Given the description of an element on the screen output the (x, y) to click on. 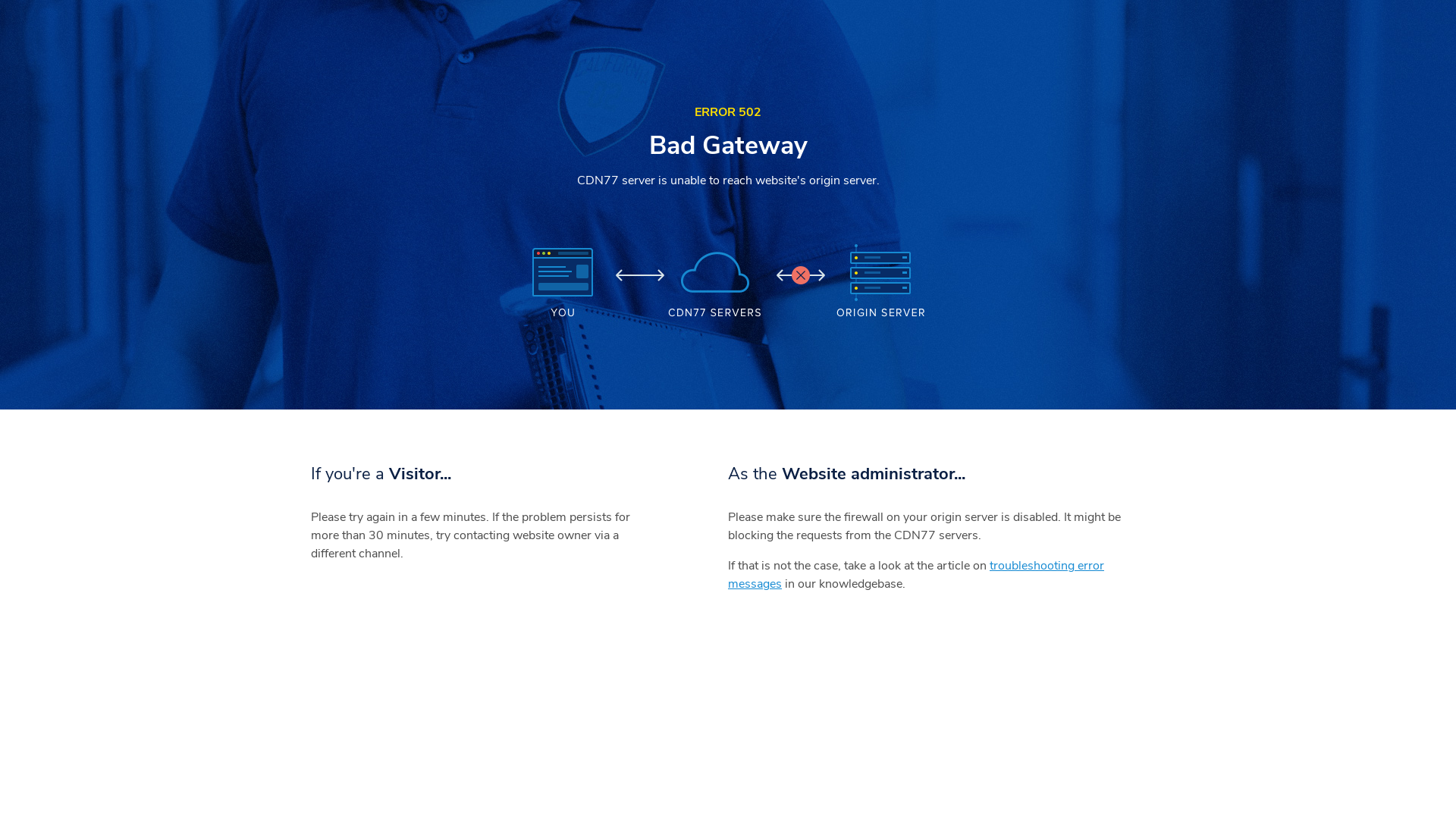
troubleshooting error messages Element type: text (916, 574)
